Given the description of an element on the screen output the (x, y) to click on. 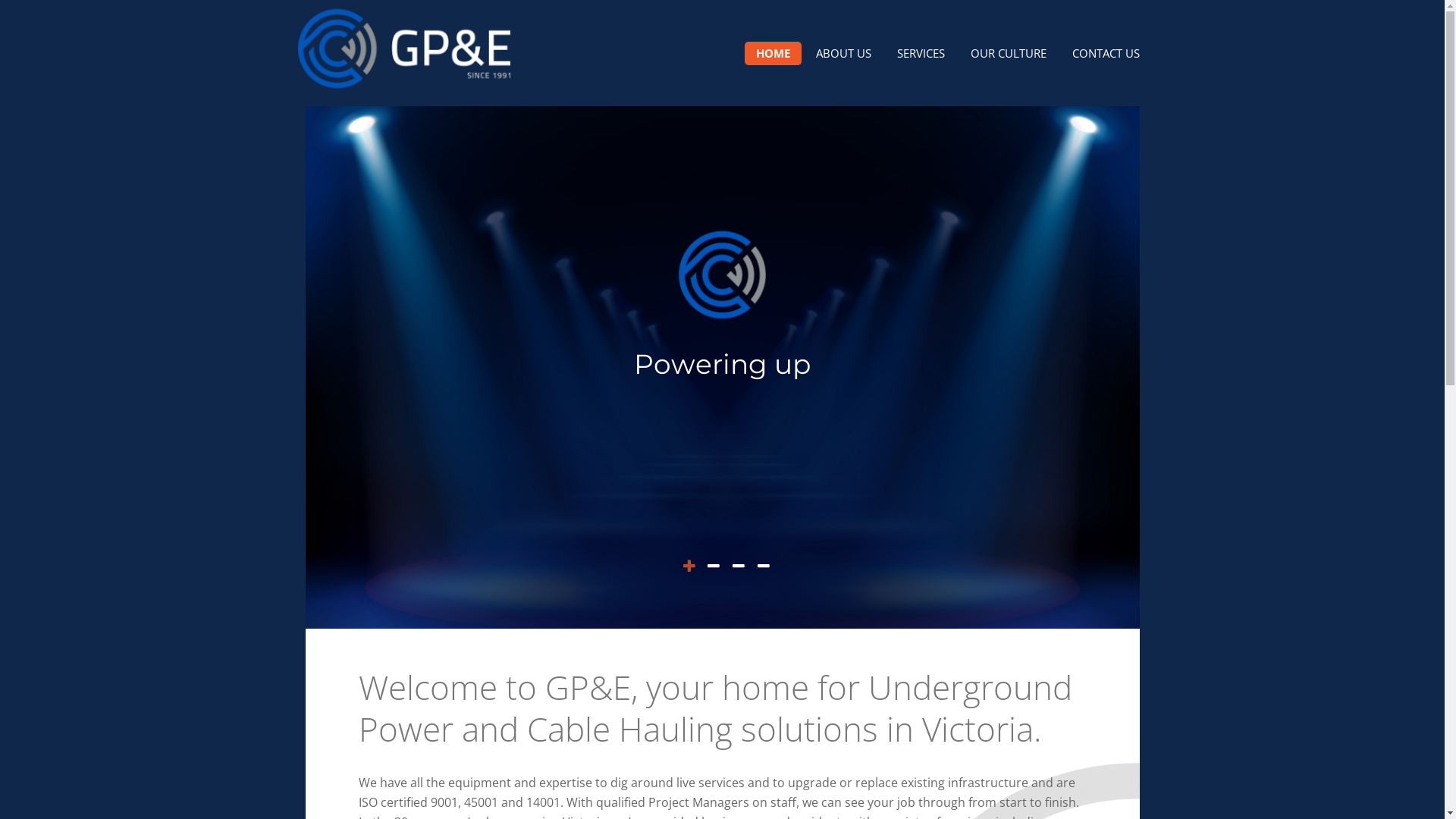
SERVICES Element type: text (920, 53)
OUR CULTURE Element type: text (1007, 53)
GP&E Element type: text (403, 48)
CONTACT US Element type: text (1105, 53)
ABOUT US Element type: text (842, 53)
HOME Element type: text (772, 53)
